Given the description of an element on the screen output the (x, y) to click on. 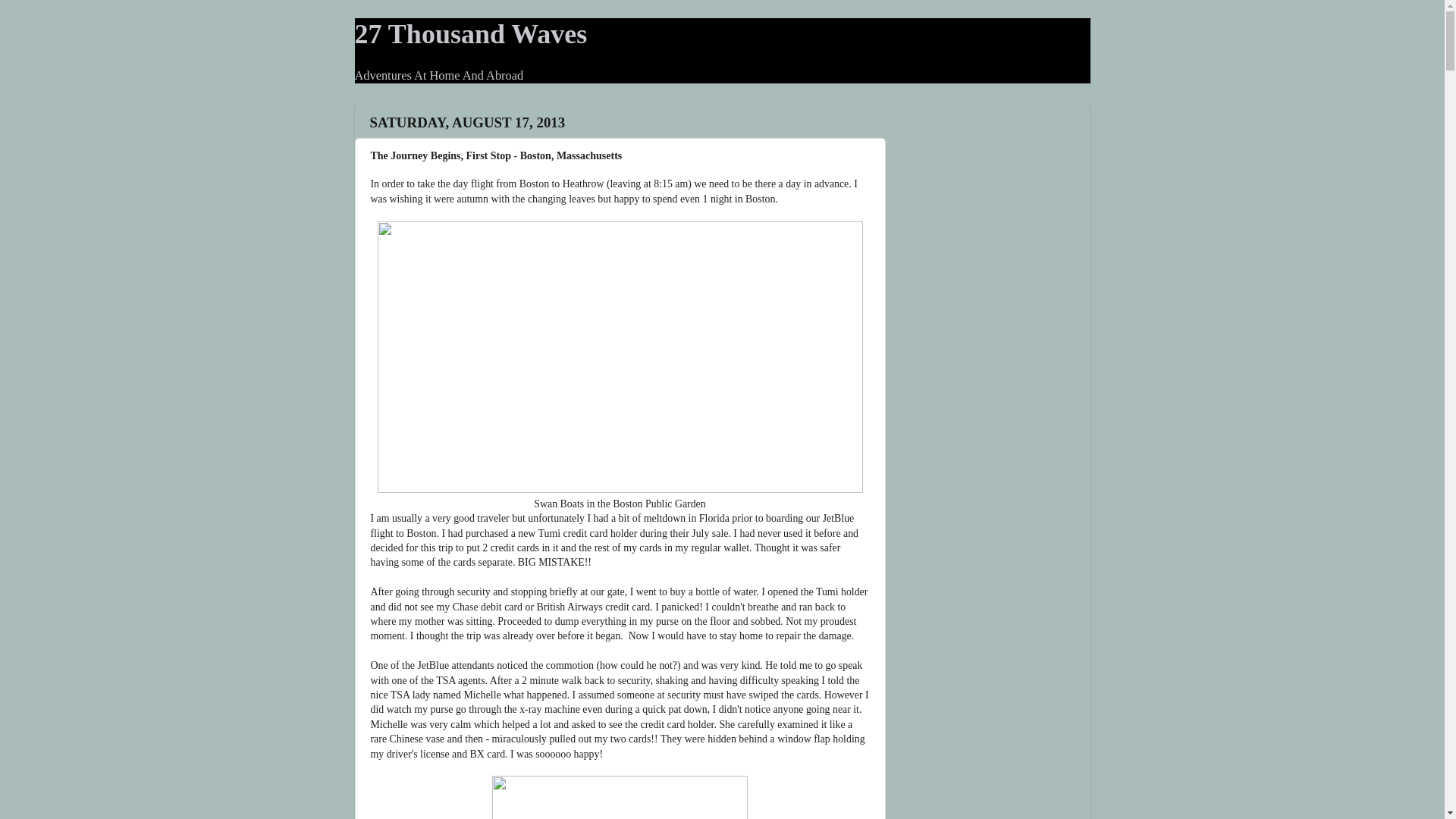
27 Thousand Waves Element type: text (470, 33)
